Given the description of an element on the screen output the (x, y) to click on. 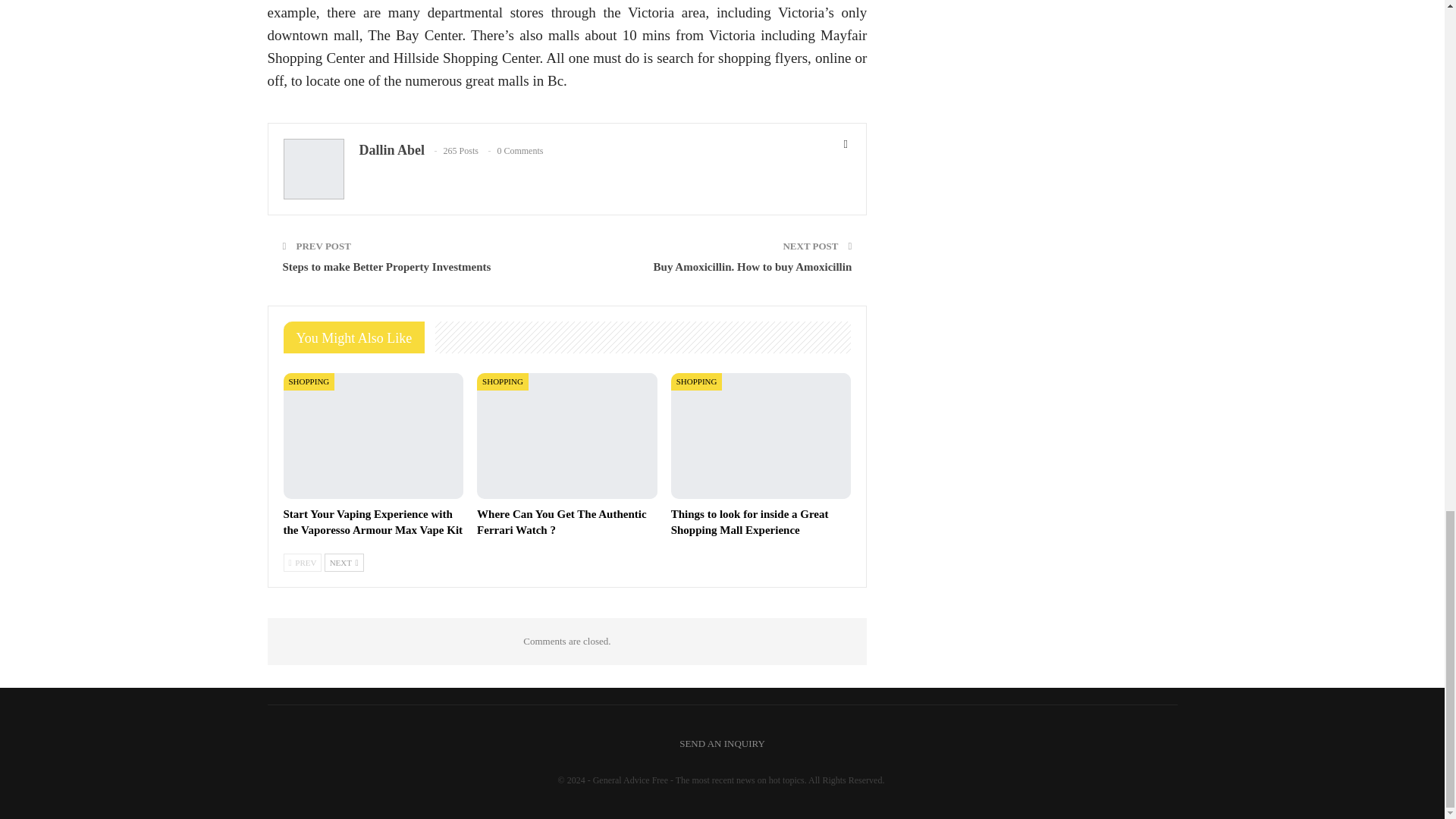
SHOPPING (308, 381)
SHOPPING (696, 381)
Things to look for inside a Great Shopping Mall Experience (761, 435)
Where Can You Get The Authentic Ferrari Watch ? (561, 521)
You Might Also Like (358, 338)
Things to look for inside a Great Shopping Mall Experience (749, 521)
Buy Amoxicillin. How to buy Amoxicillin (752, 266)
Dallin Abel (392, 150)
Where Can You Get The Authentic Ferrari Watch ? (561, 521)
NEXT (344, 562)
PREV (302, 562)
Steps to make Better Property Investments (386, 266)
